Given the description of an element on the screen output the (x, y) to click on. 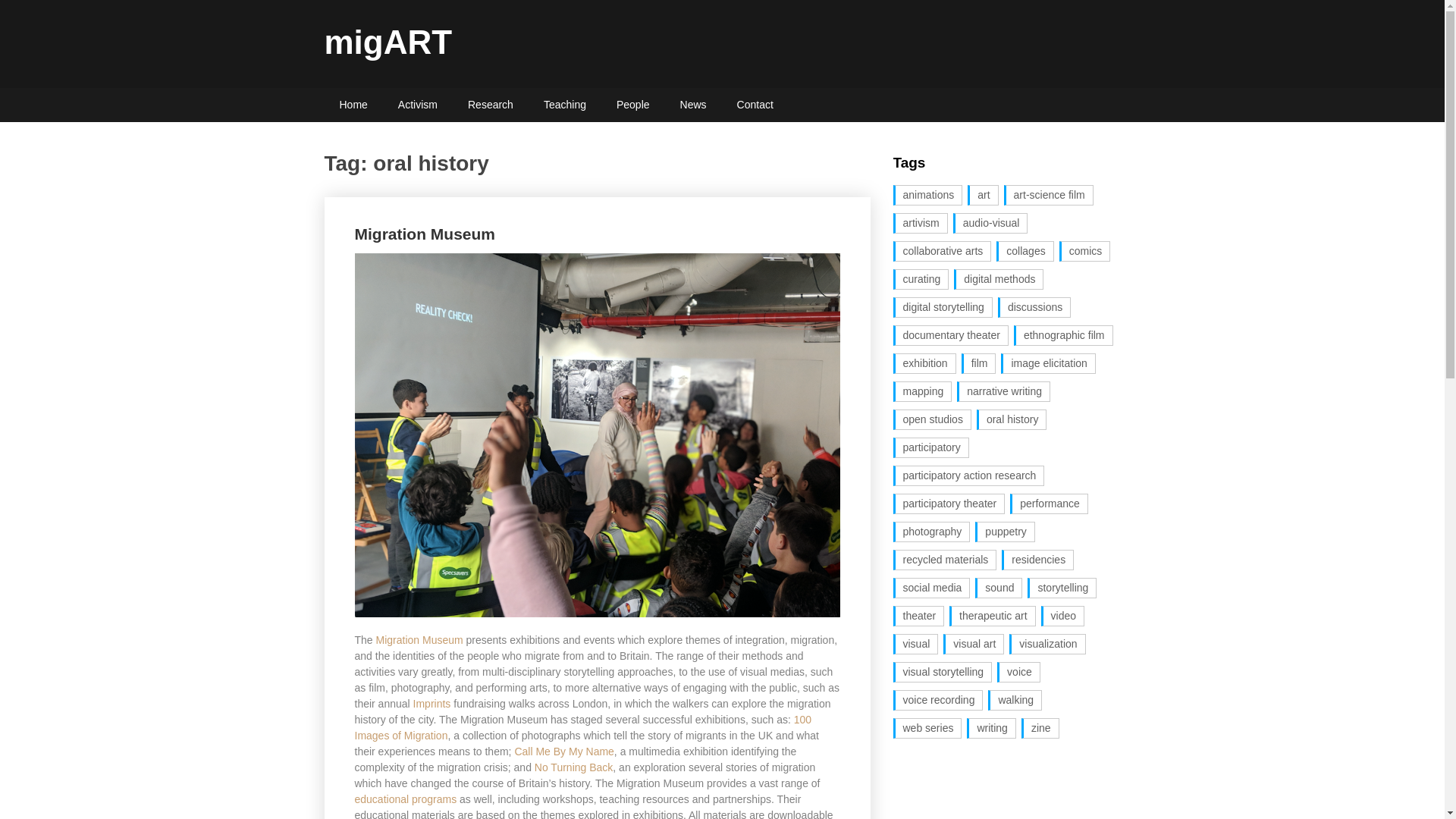
art (982, 195)
collages (1023, 250)
Contact (755, 104)
Teaching (564, 104)
exhibition (924, 362)
digital methods (998, 279)
discussions (1033, 307)
animations (927, 195)
Migration Museum (425, 233)
digital storytelling (942, 307)
